Given the description of an element on the screen output the (x, y) to click on. 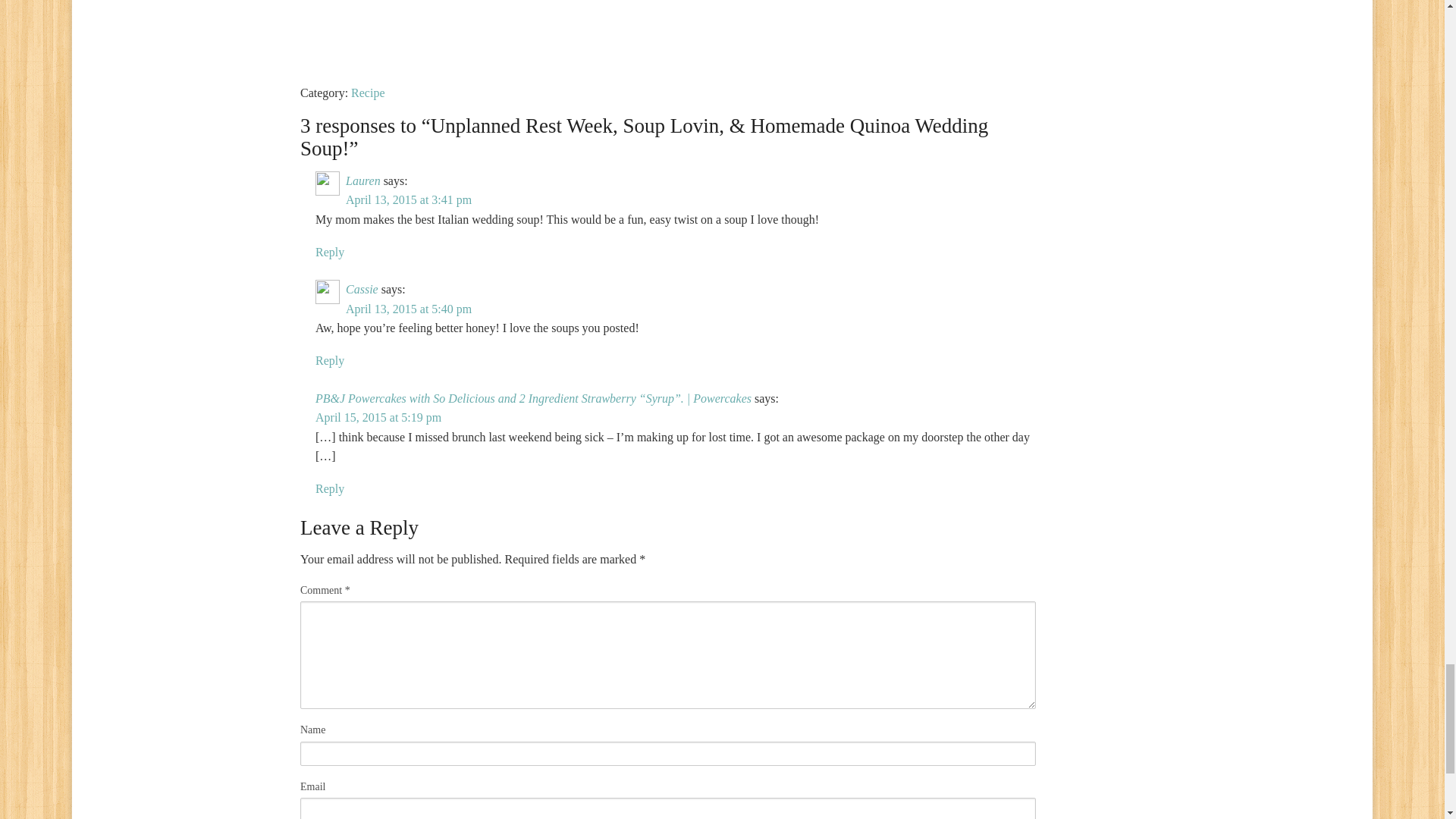
April 13, 2015 at 5:40 pm (408, 308)
Reply (329, 359)
Reply (329, 488)
Reply (329, 251)
Cassie (362, 288)
Recipe (367, 92)
Lauren (363, 180)
April 15, 2015 at 5:19 pm (378, 417)
April 13, 2015 at 3:41 pm (408, 199)
